Given the description of an element on the screen output the (x, y) to click on. 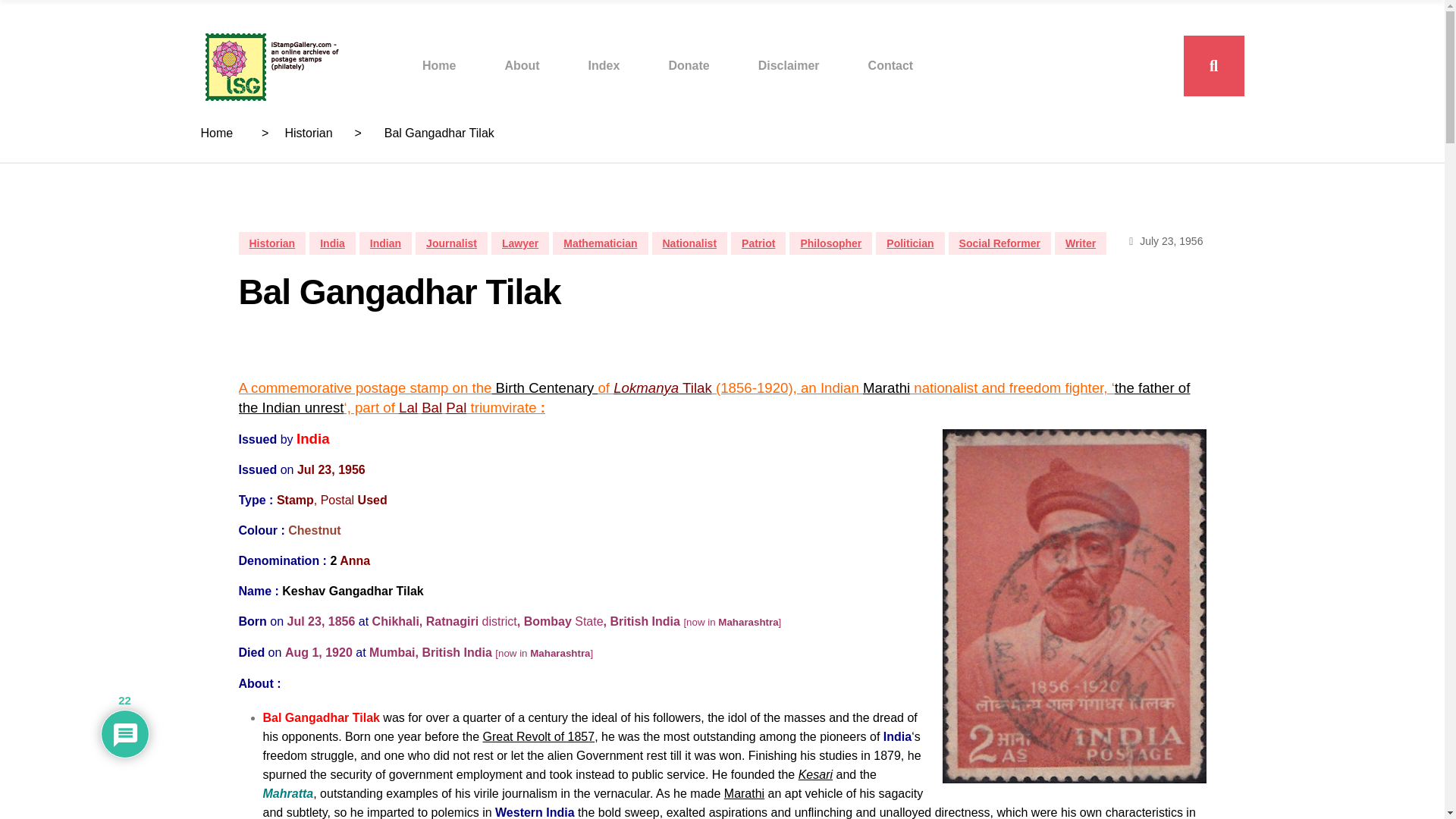
Disclaimer (788, 65)
Nationalist (690, 242)
Social Reformer (1000, 242)
Great Revolt of 1857 (537, 736)
Patriot (758, 242)
Mathematician (600, 242)
Home (216, 132)
Writer (1080, 242)
India (331, 242)
Contact (890, 65)
Index (604, 65)
Donate (688, 65)
Journalist (450, 242)
Home (438, 65)
Indian (385, 242)
